Given the description of an element on the screen output the (x, y) to click on. 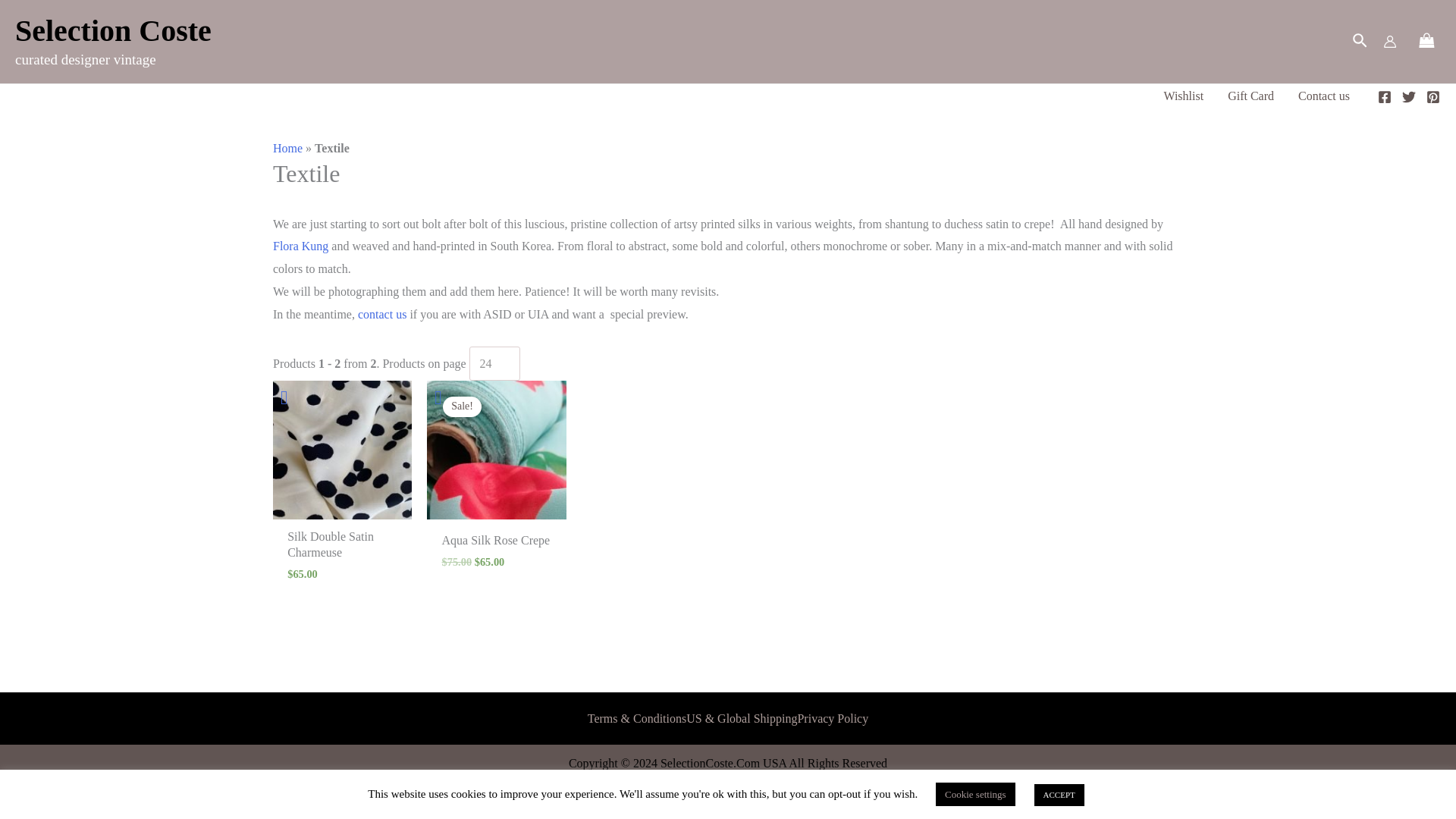
ACCEPT (1058, 794)
Contact us (1323, 96)
Silk Double Satin Charmeuse (341, 548)
Gift Card (1250, 96)
Flora Kung (301, 245)
Cookie settings (975, 793)
Aqua Silk Rose Crepe (496, 544)
Privacy Policy (831, 718)
Selection Coste (112, 30)
contact us (382, 314)
Wishlist (1183, 96)
Home (287, 147)
